Given the description of an element on the screen output the (x, y) to click on. 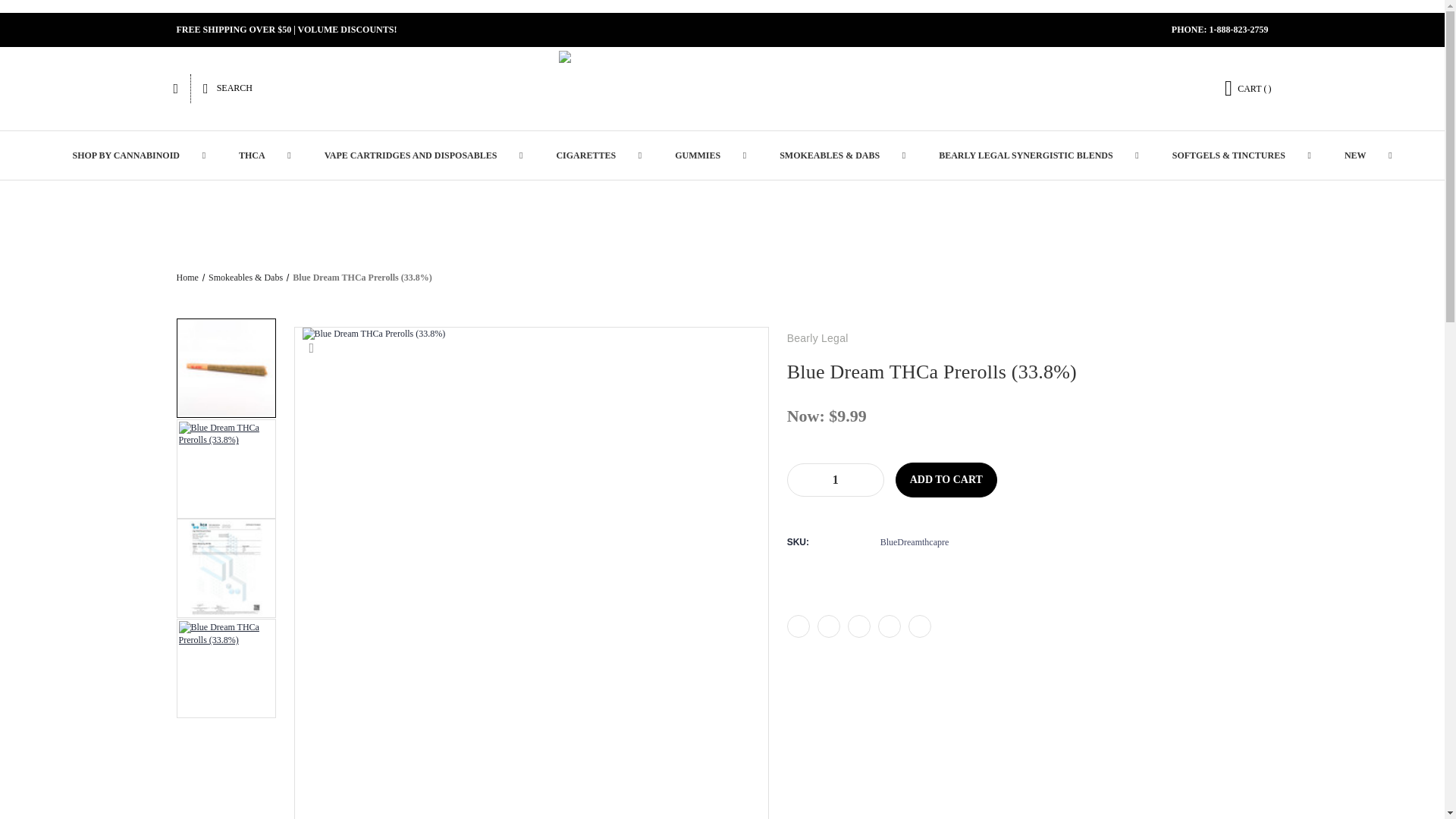
SEARCH (227, 88)
SHOP BY CANNABINOID (128, 155)
CART (1248, 88)
Add to Cart (946, 479)
Bearly Legal Hemp (721, 88)
1-888-823-2759 (1238, 29)
1 (835, 479)
